Given the description of an element on the screen output the (x, y) to click on. 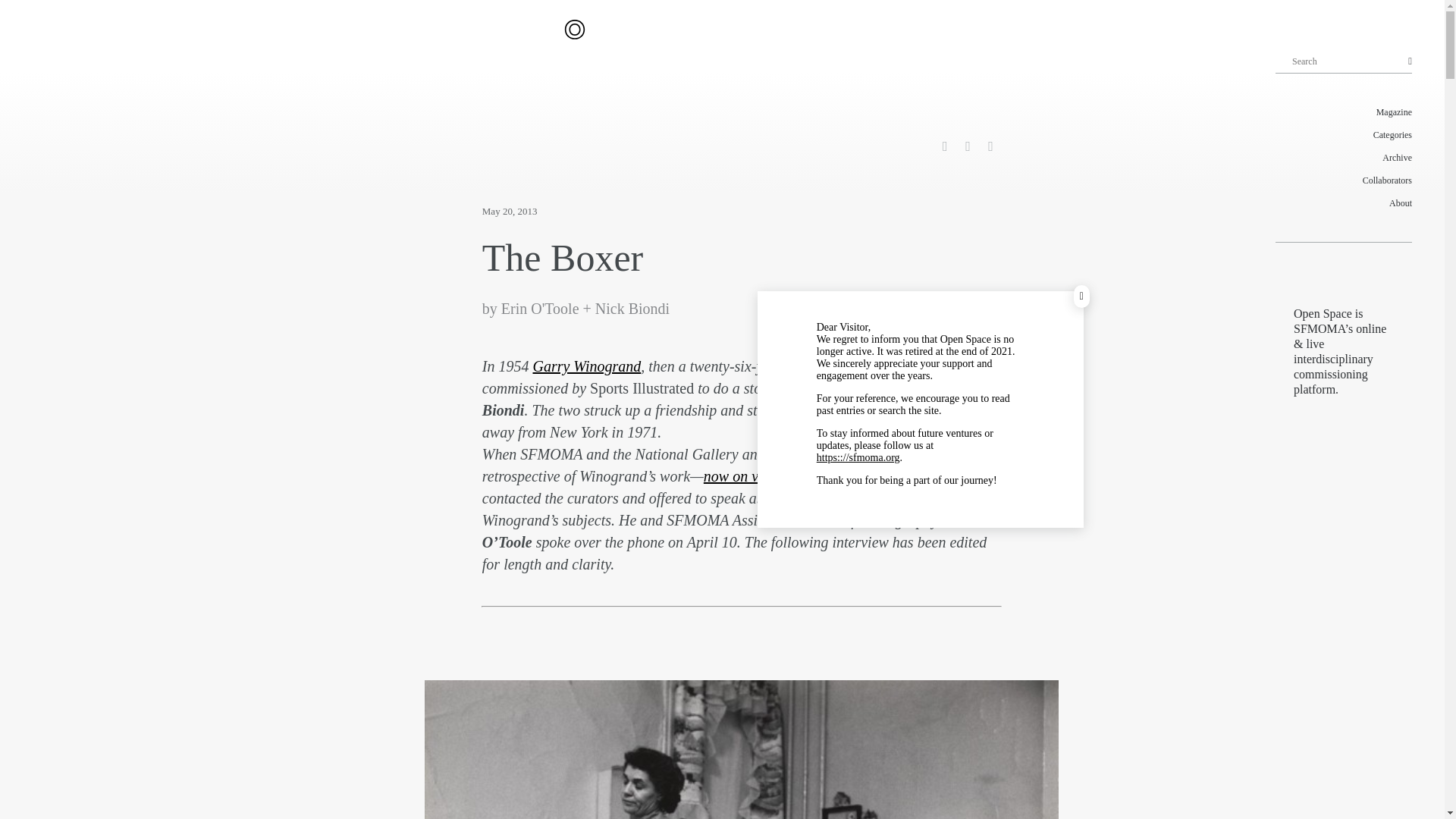
Magazine (1343, 111)
now on view at SFMOMA, until June 2 (821, 475)
Categories (1343, 134)
Nick Biondi (632, 308)
Garry Winogrand (586, 365)
Archive (1343, 157)
Erin O'Toole (539, 308)
www.sfmoma.org (857, 457)
